Given the description of an element on the screen output the (x, y) to click on. 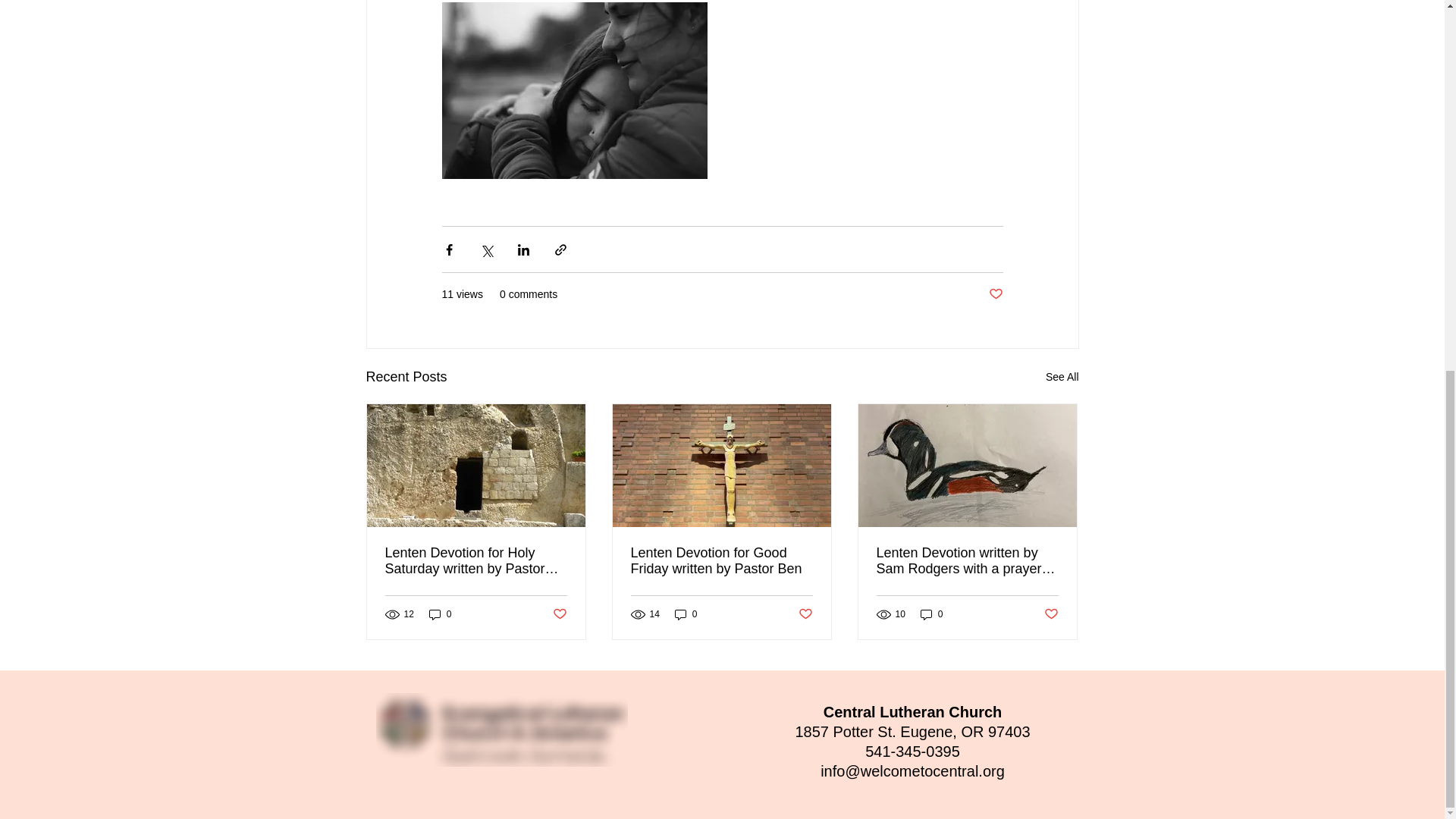
Post not marked as liked (995, 294)
Post not marked as liked (804, 614)
Lenten Devotion for Good Friday written by Pastor Ben (721, 561)
Post not marked as liked (558, 614)
0 (440, 614)
0 (931, 614)
0 (685, 614)
See All (1061, 377)
